Given the description of an element on the screen output the (x, y) to click on. 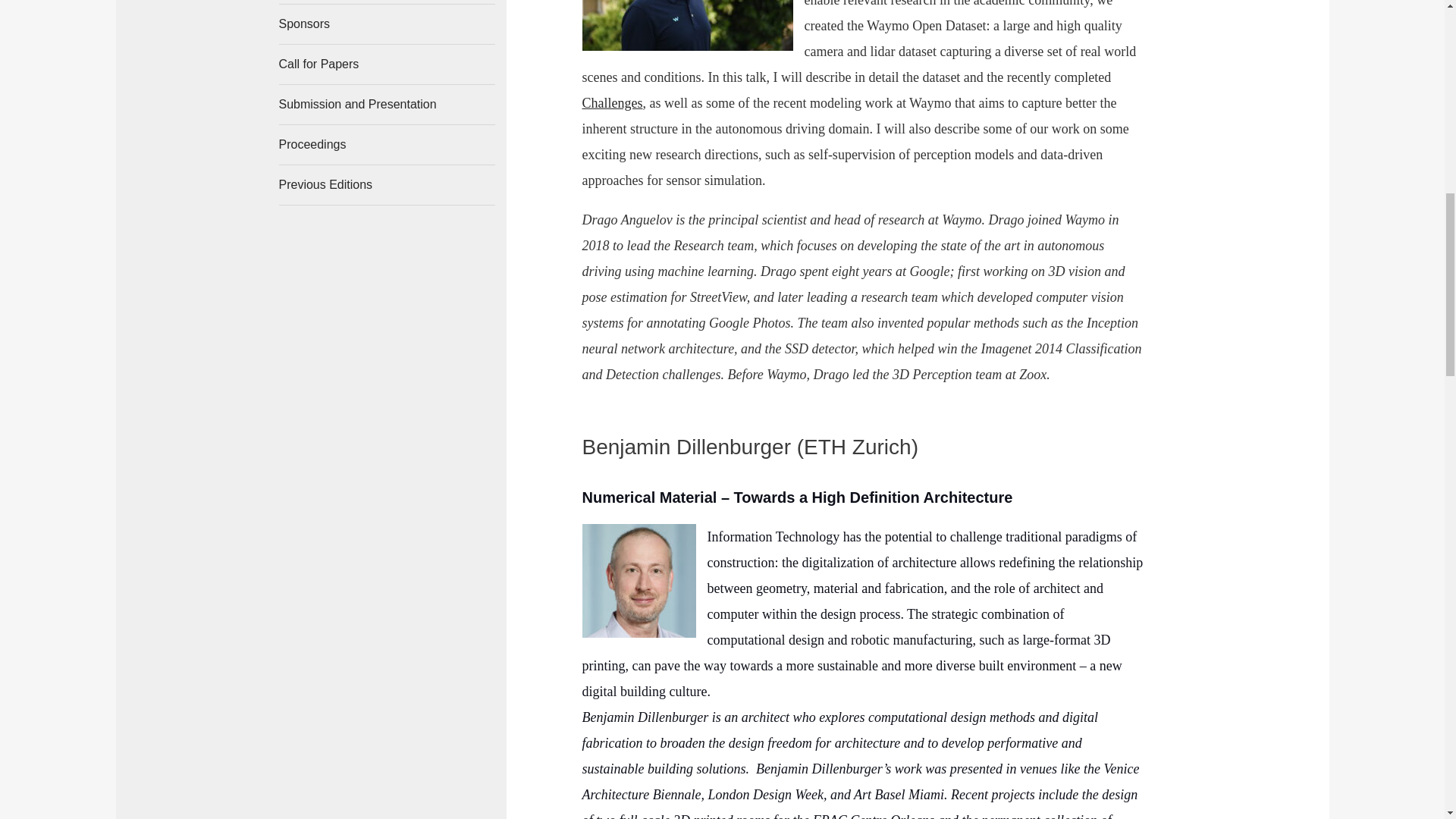
Sponsors (387, 24)
Awards (387, 2)
Previous Editions (387, 184)
Proceedings (387, 144)
Submission and Presentation (387, 104)
Challenges (612, 102)
Call for Papers (387, 64)
